Given the description of an element on the screen output the (x, y) to click on. 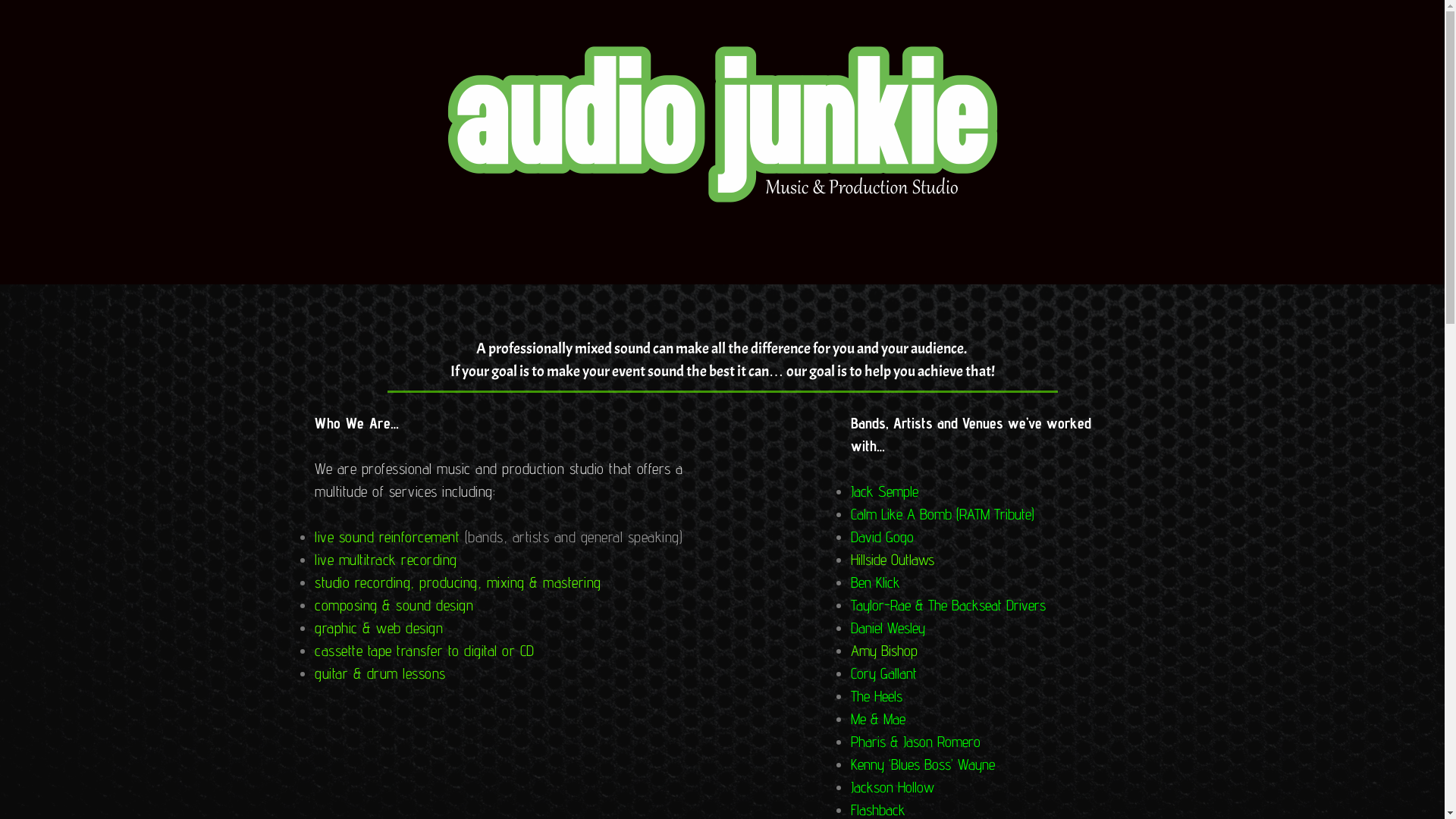
The Heels Element type: text (876, 696)
Hillside Outlaws Element type: text (892, 559)
Cory Gallant Element type: text (883, 673)
Amy Bishop Element type: text (883, 650)
Daniel Wesley Element type: text (887, 627)
